Given the description of an element on the screen output the (x, y) to click on. 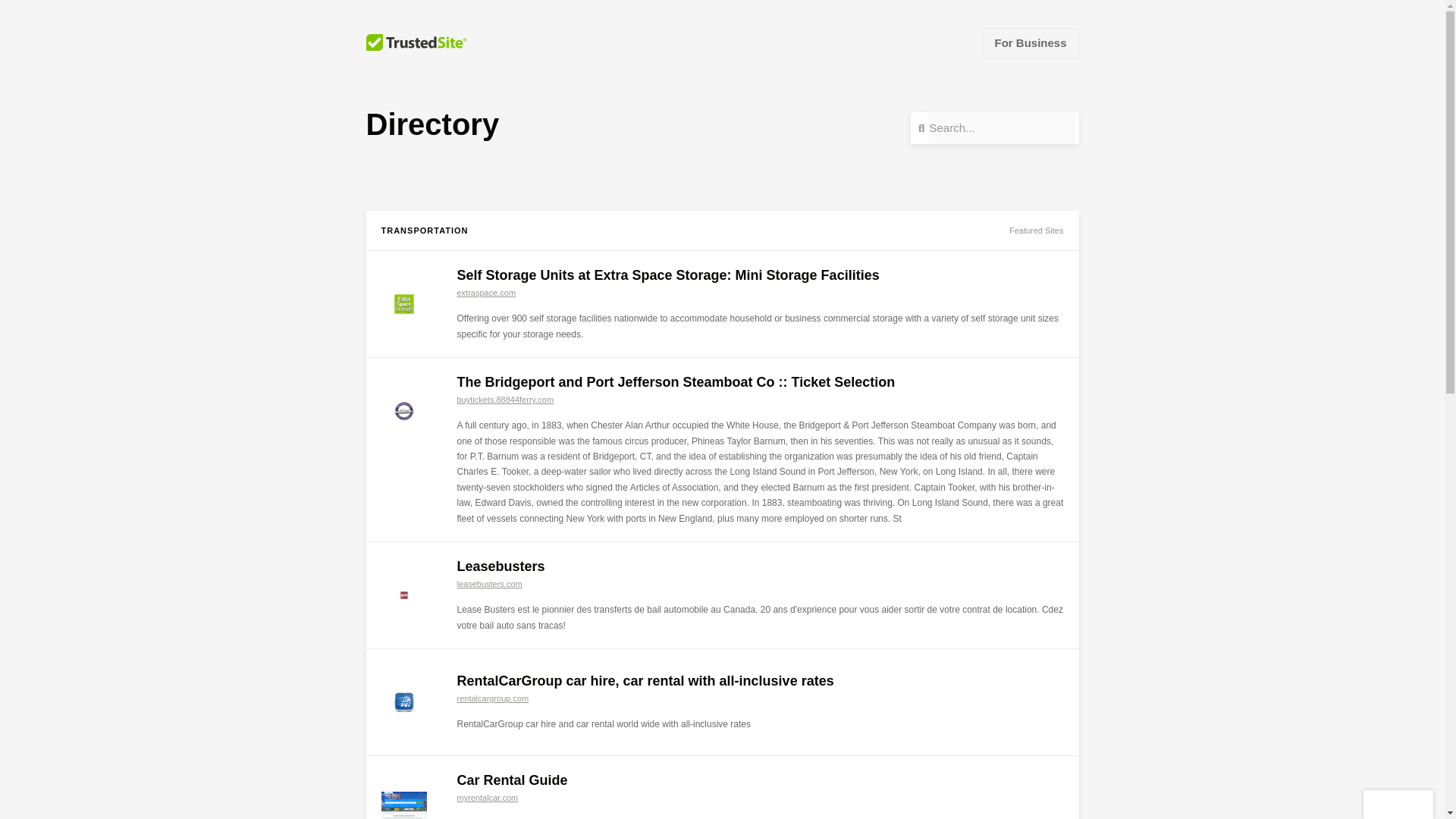
Leasebusters (500, 566)
For Business (1029, 42)
buytickets.88844ferry.com (505, 399)
extraspace.com (486, 292)
leasebusters.com (489, 583)
Featured Sites (1036, 230)
TrustedSite Certified (1397, 804)
myrentalcar.com (487, 797)
